Given the description of an element on the screen output the (x, y) to click on. 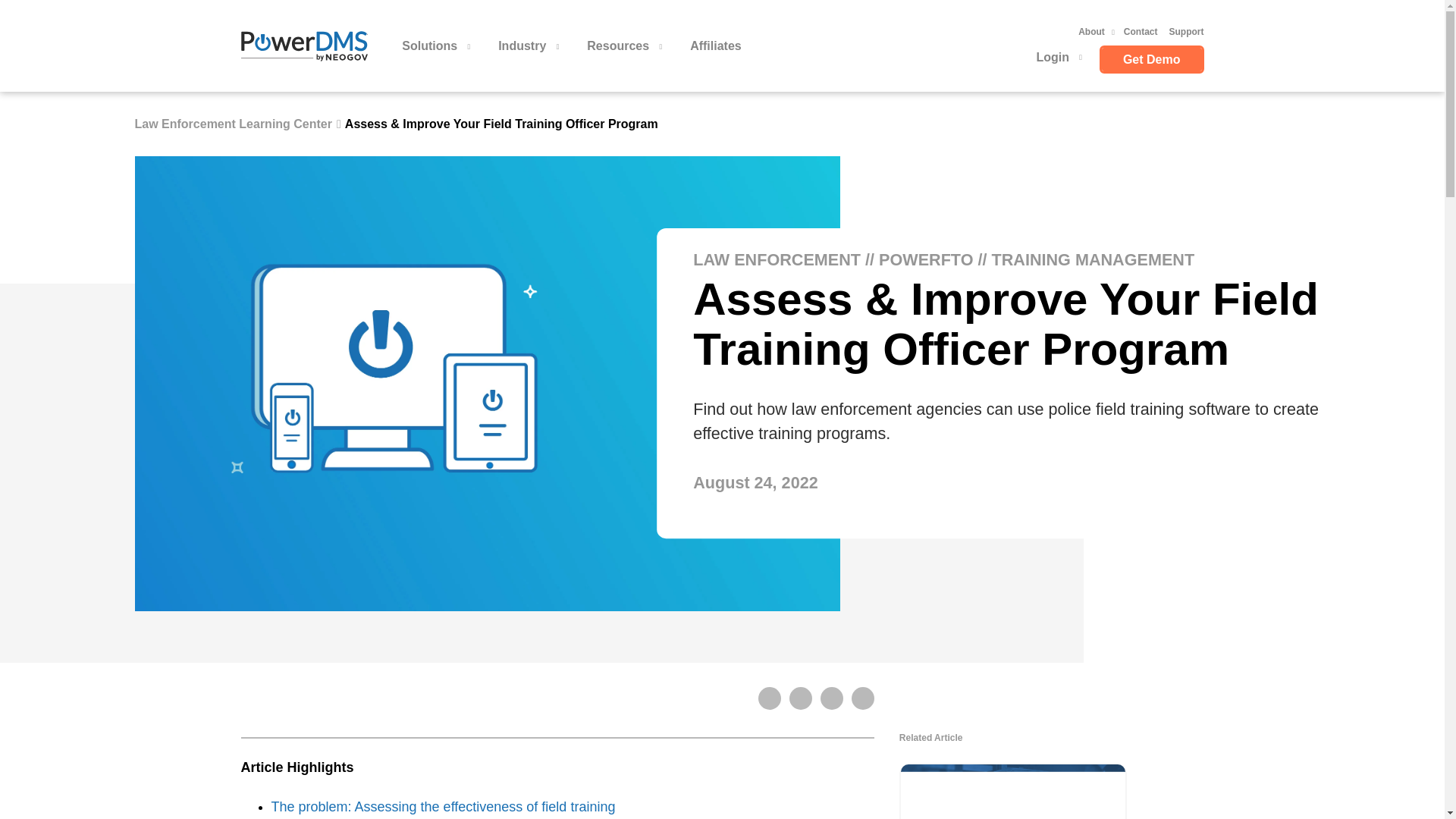
false (234, 123)
About (1091, 31)
